Given the description of an element on the screen output the (x, y) to click on. 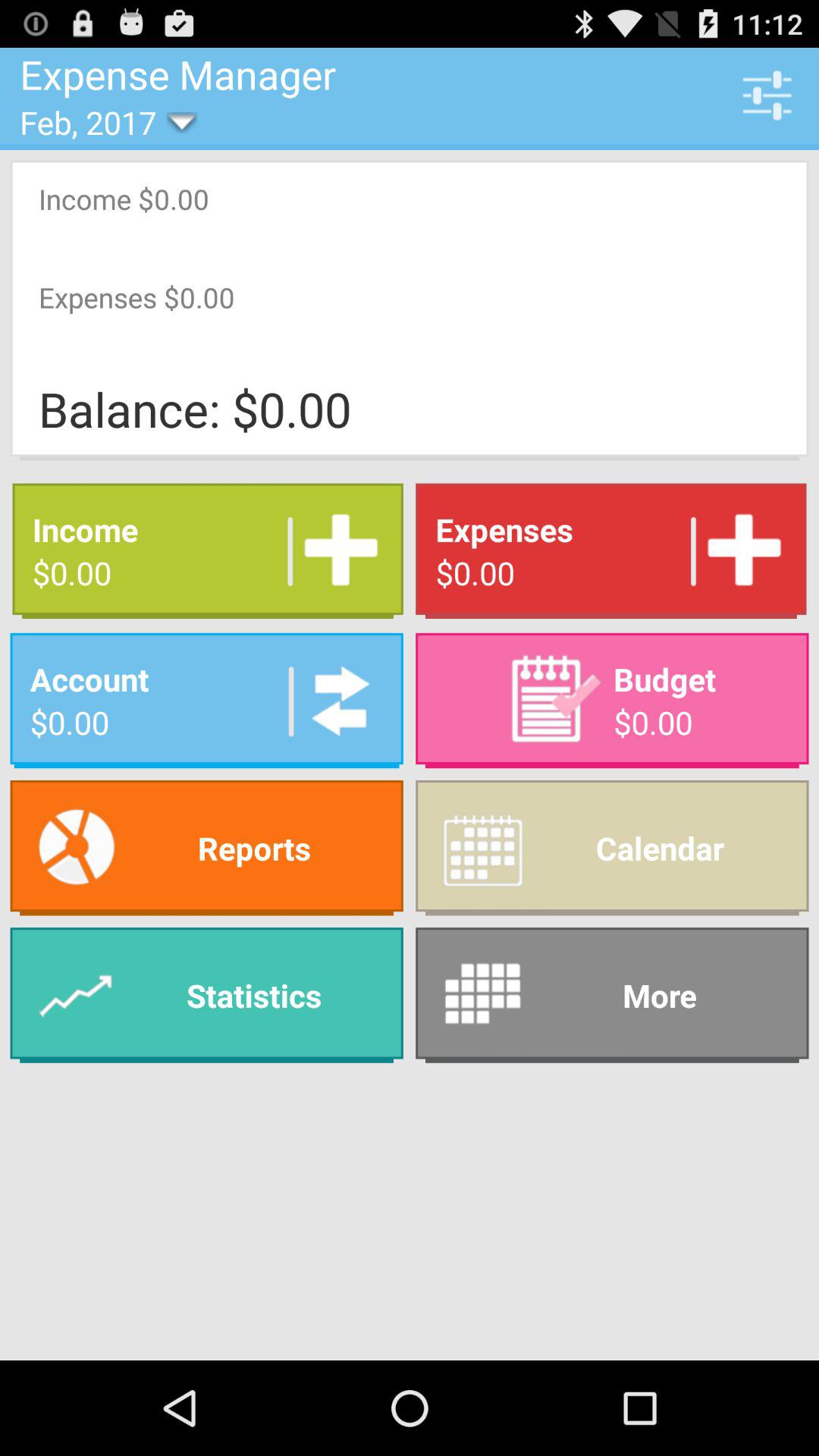
click icon at the bottom left corner (206, 994)
